Given the description of an element on the screen output the (x, y) to click on. 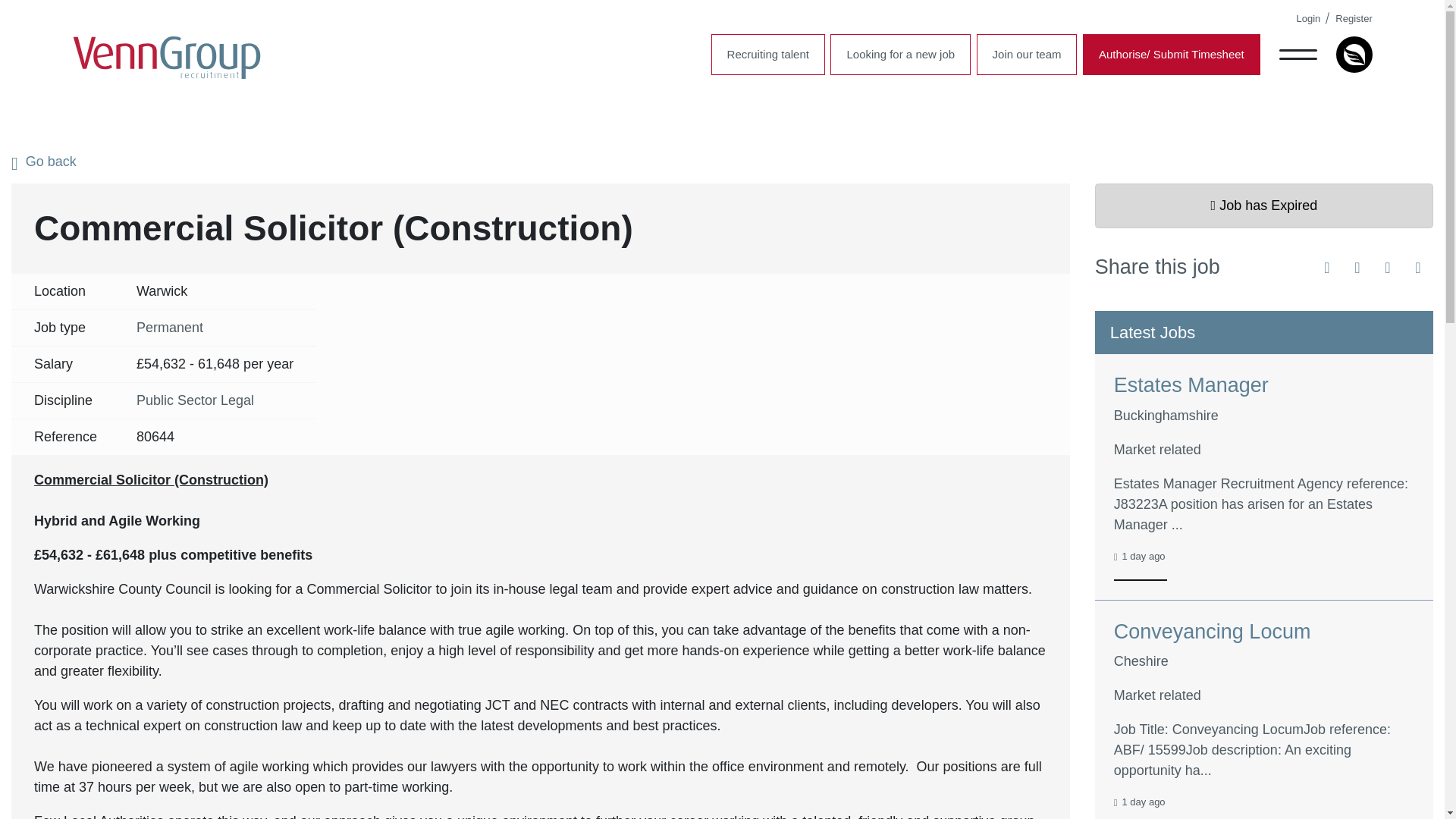
Register (1353, 18)
Join our team (1026, 55)
Go to the Homepage (166, 58)
Venn Group (166, 58)
Recruiting talent (768, 55)
Login (1308, 18)
Looking for a new job (900, 55)
